Given the description of an element on the screen output the (x, y) to click on. 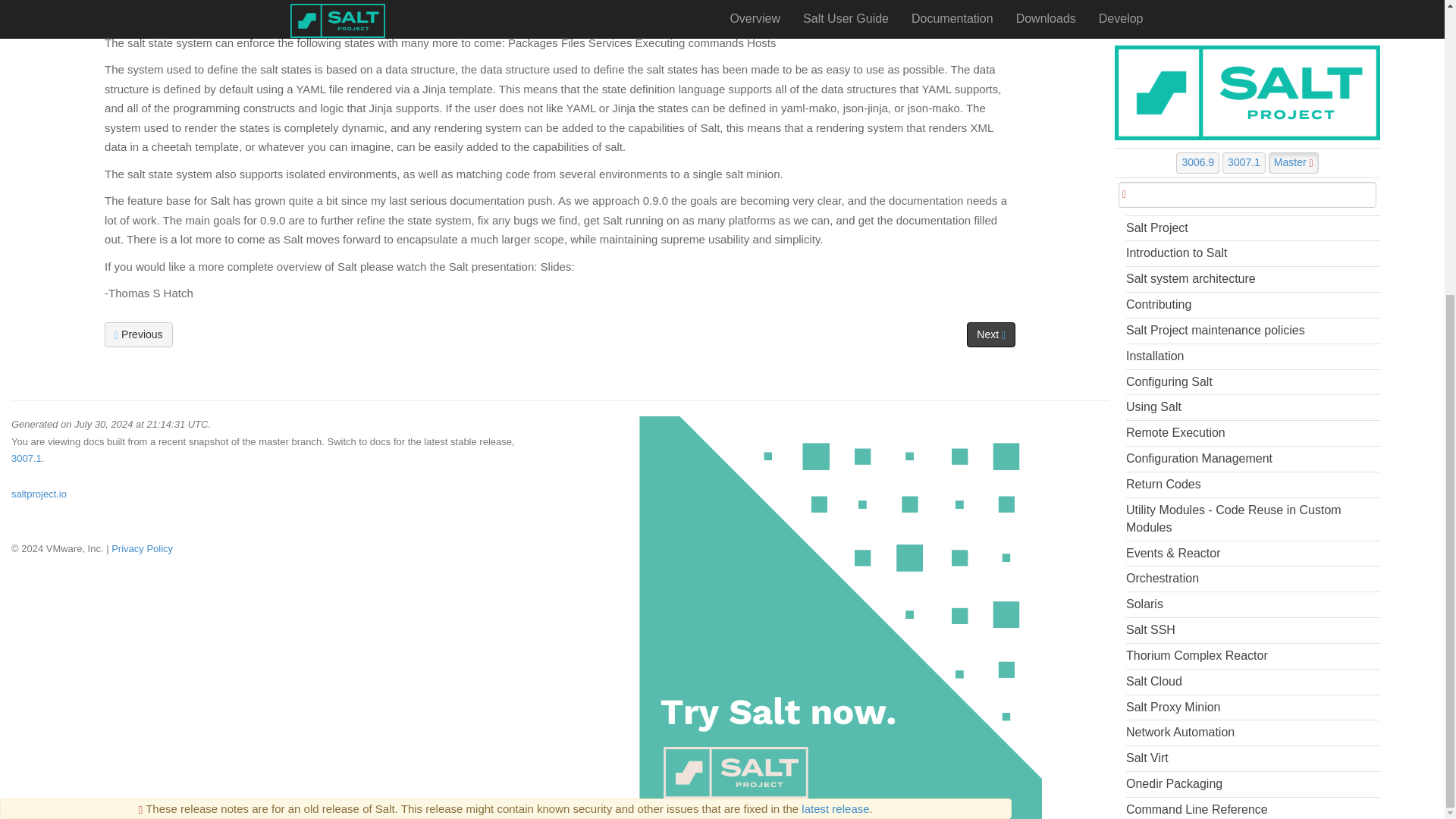
Privacy Policy (142, 548)
3007.1 (26, 458)
Previous (137, 334)
latest release (835, 354)
saltproject.io (38, 493)
Next (990, 334)
